Given the description of an element on the screen output the (x, y) to click on. 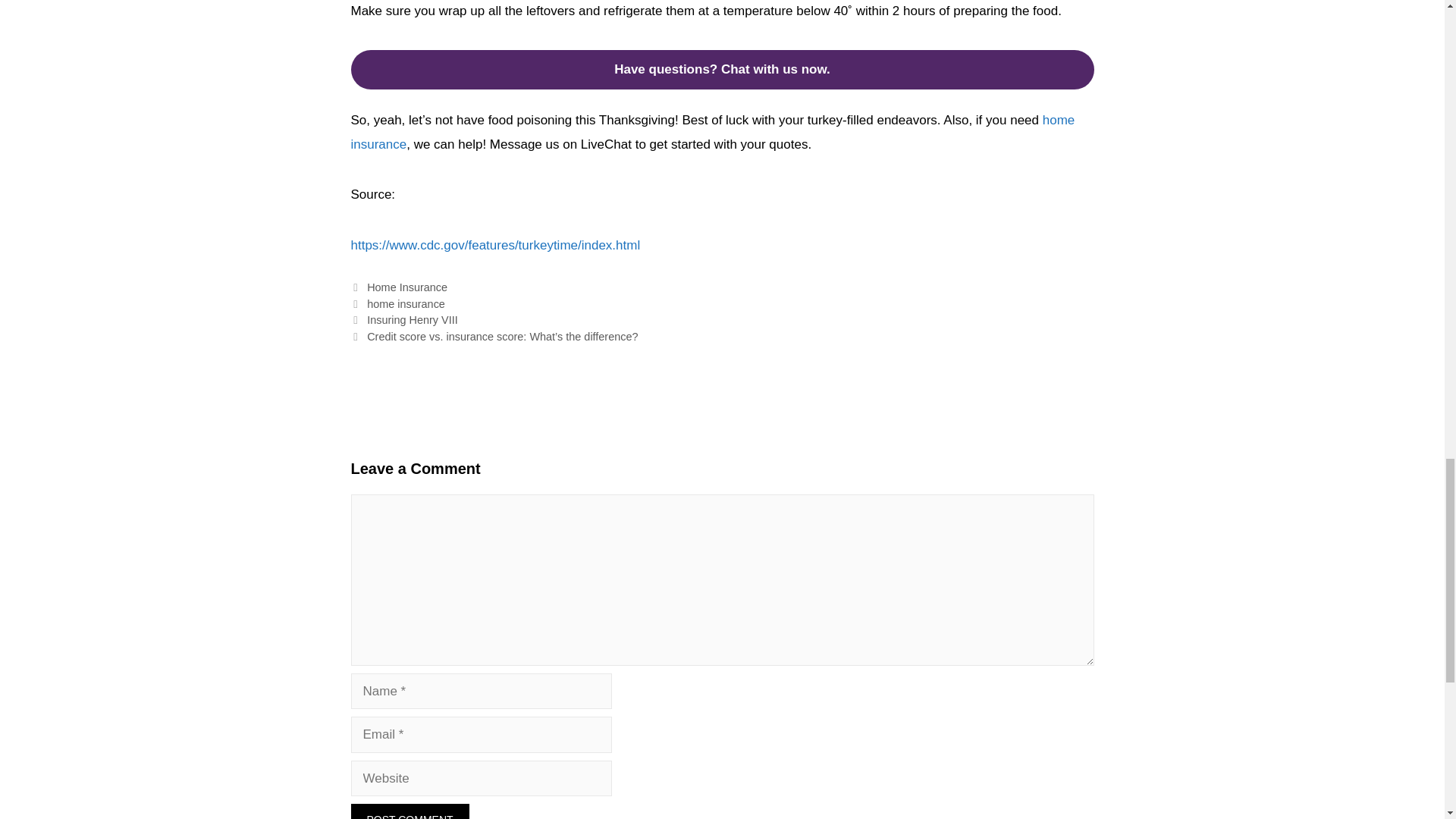
Have questions? Chat with us now. (721, 69)
home insurance (712, 132)
Home Insurance (406, 287)
home insurance (405, 304)
Next (493, 336)
Previous (403, 319)
Post Comment (409, 811)
Insuring Henry VIII (412, 319)
